Given the description of an element on the screen output the (x, y) to click on. 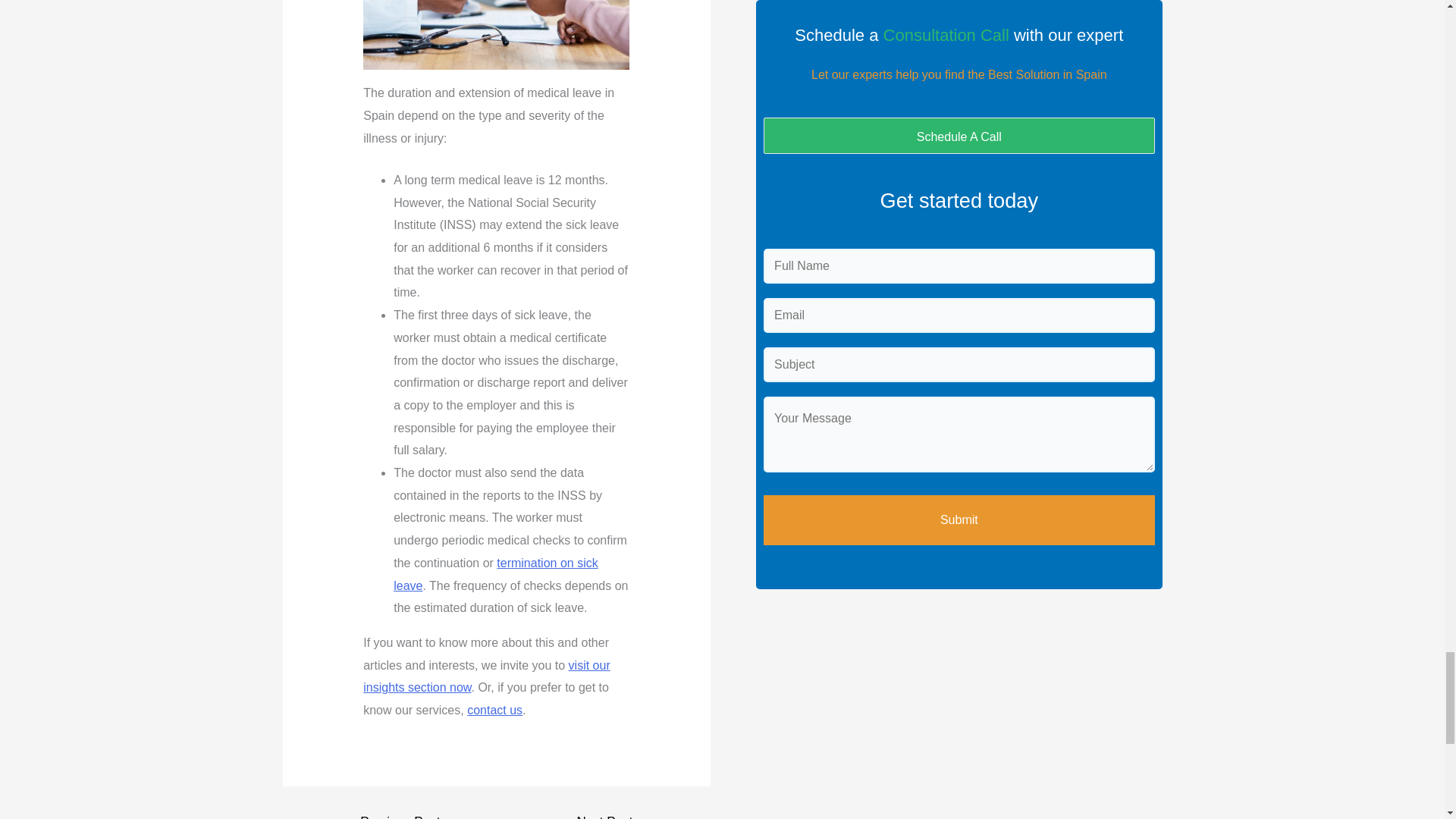
visit our insights section now (486, 676)
contact us (494, 709)
termination on sick leave (494, 574)
